Given the description of an element on the screen output the (x, y) to click on. 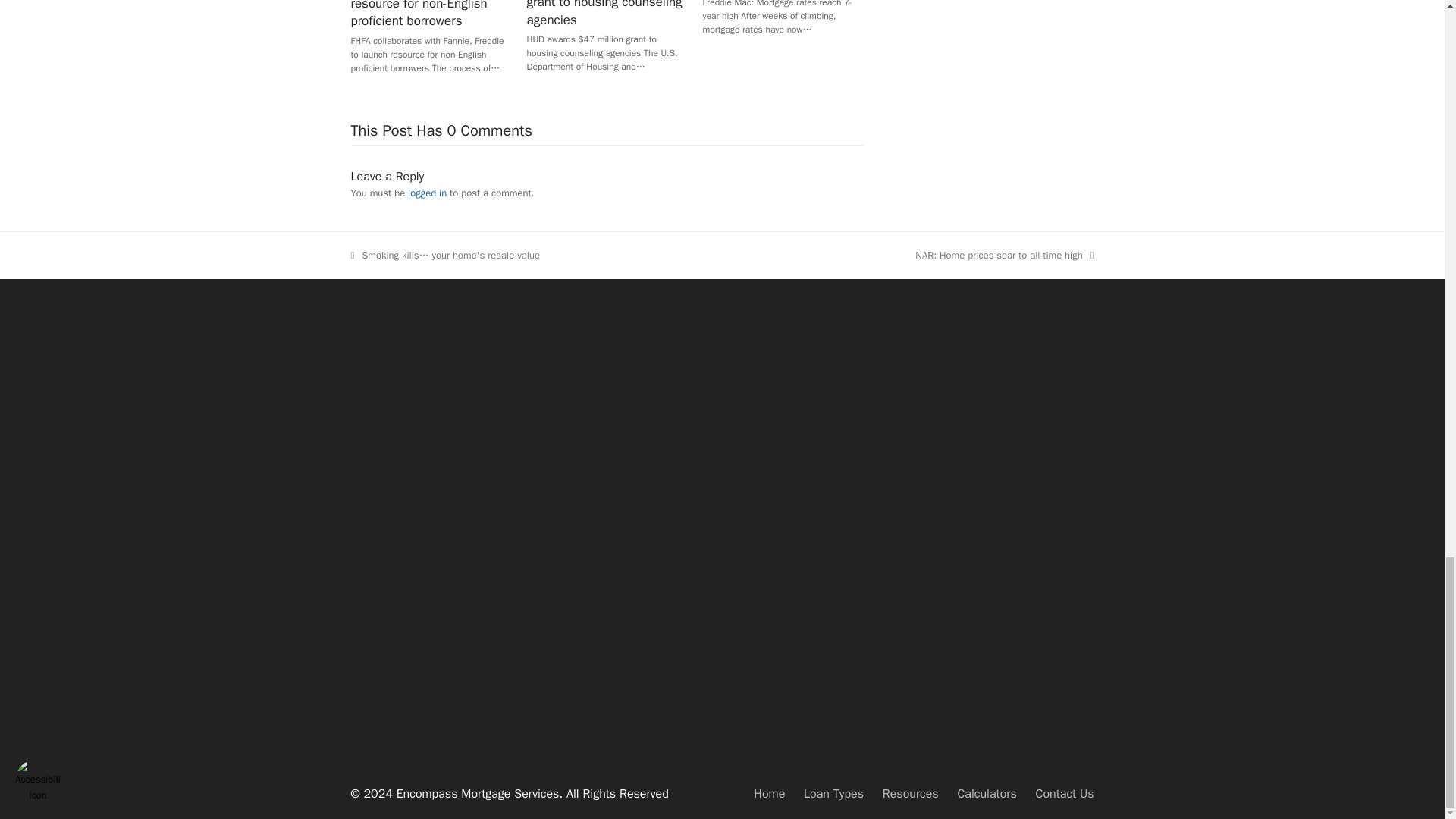
logged in (1004, 254)
